Given the description of an element on the screen output the (x, y) to click on. 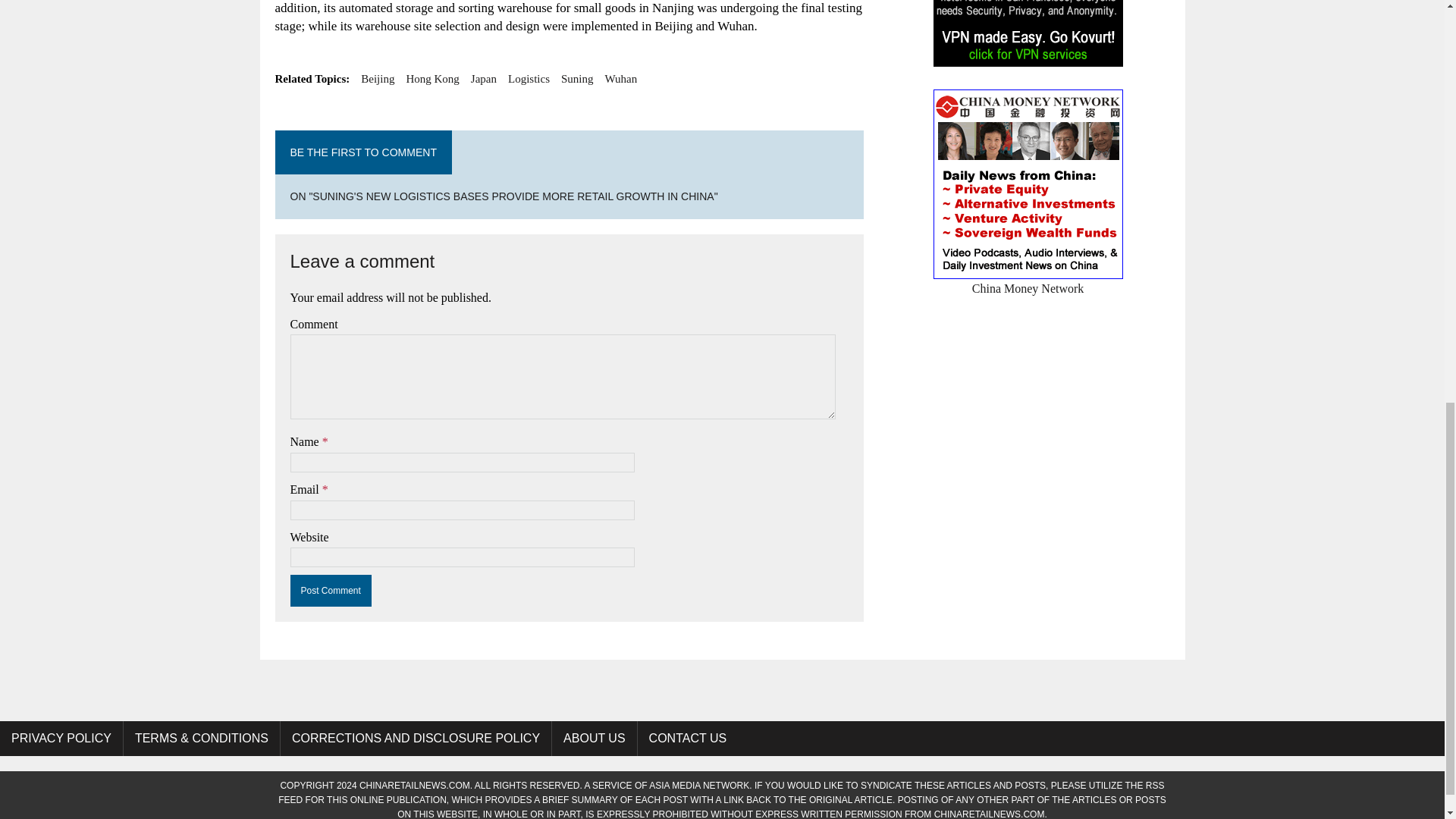
Beijing (377, 78)
China Money Network - Finance and Investment News Daily (1027, 278)
Logistics (529, 78)
Wuhan (621, 78)
Post Comment (330, 590)
Japan (483, 78)
Asia Media Network (699, 785)
China Money Network (1027, 278)
Suning (577, 78)
Hong Kong (432, 78)
